Given the description of an element on the screen output the (x, y) to click on. 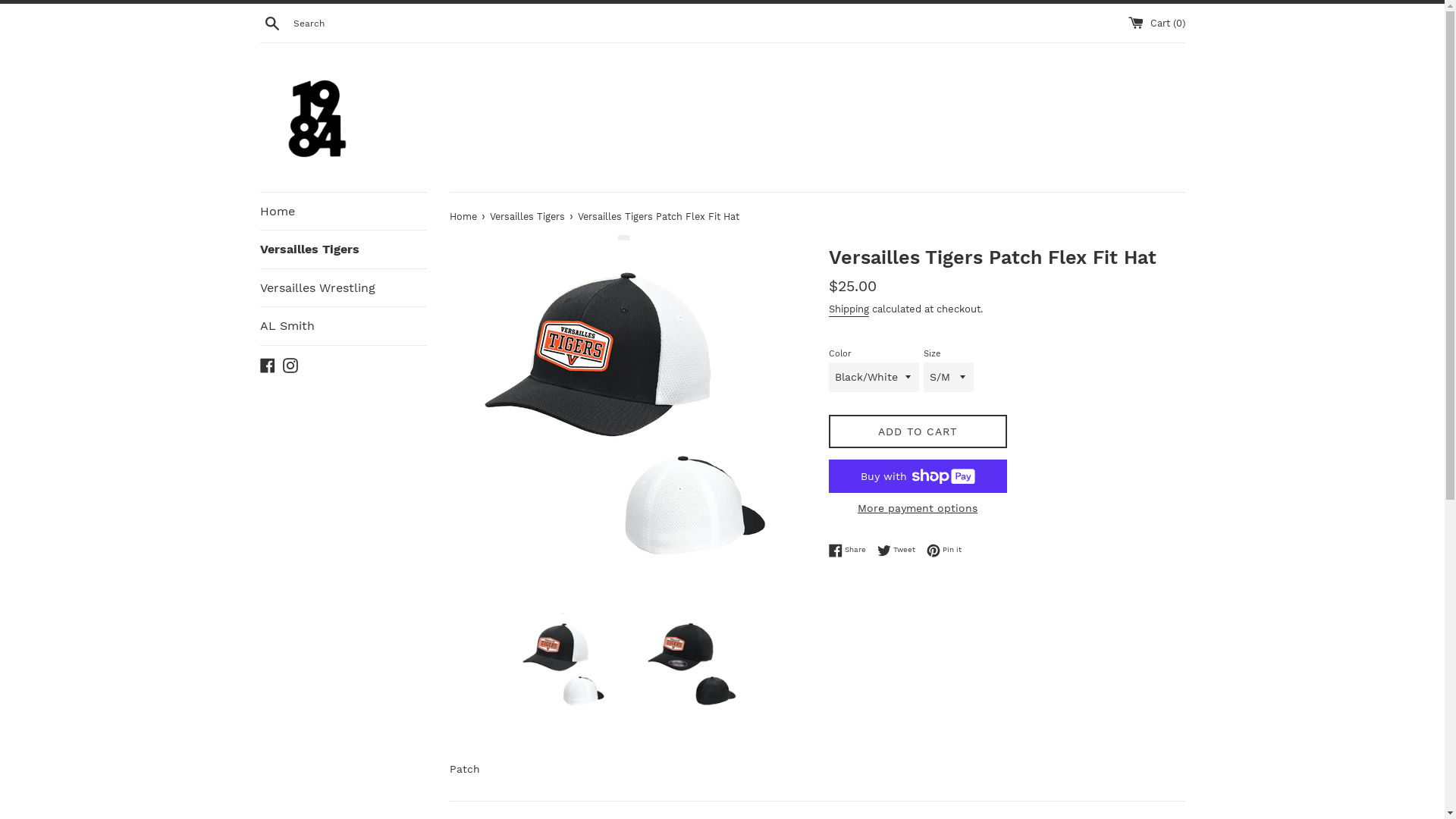
Versailles Wrestling Element type: text (342, 288)
ADD TO CART Element type: text (917, 431)
Facebook Element type: text (266, 364)
Cart (0) Element type: text (1156, 22)
More payment options Element type: text (917, 507)
Versailles Tigers Element type: text (342, 249)
AL Smith Element type: text (342, 326)
Share
Share on Facebook Element type: text (850, 550)
Tweet
Tweet on Twitter Element type: text (899, 550)
Search Element type: text (271, 22)
Versailles Tigers Element type: text (528, 216)
Home Element type: text (463, 216)
Instagram Element type: text (289, 364)
Shipping Element type: text (848, 309)
Pin it
Pin on Pinterest Element type: text (943, 550)
Home Element type: text (342, 211)
